Given the description of an element on the screen output the (x, y) to click on. 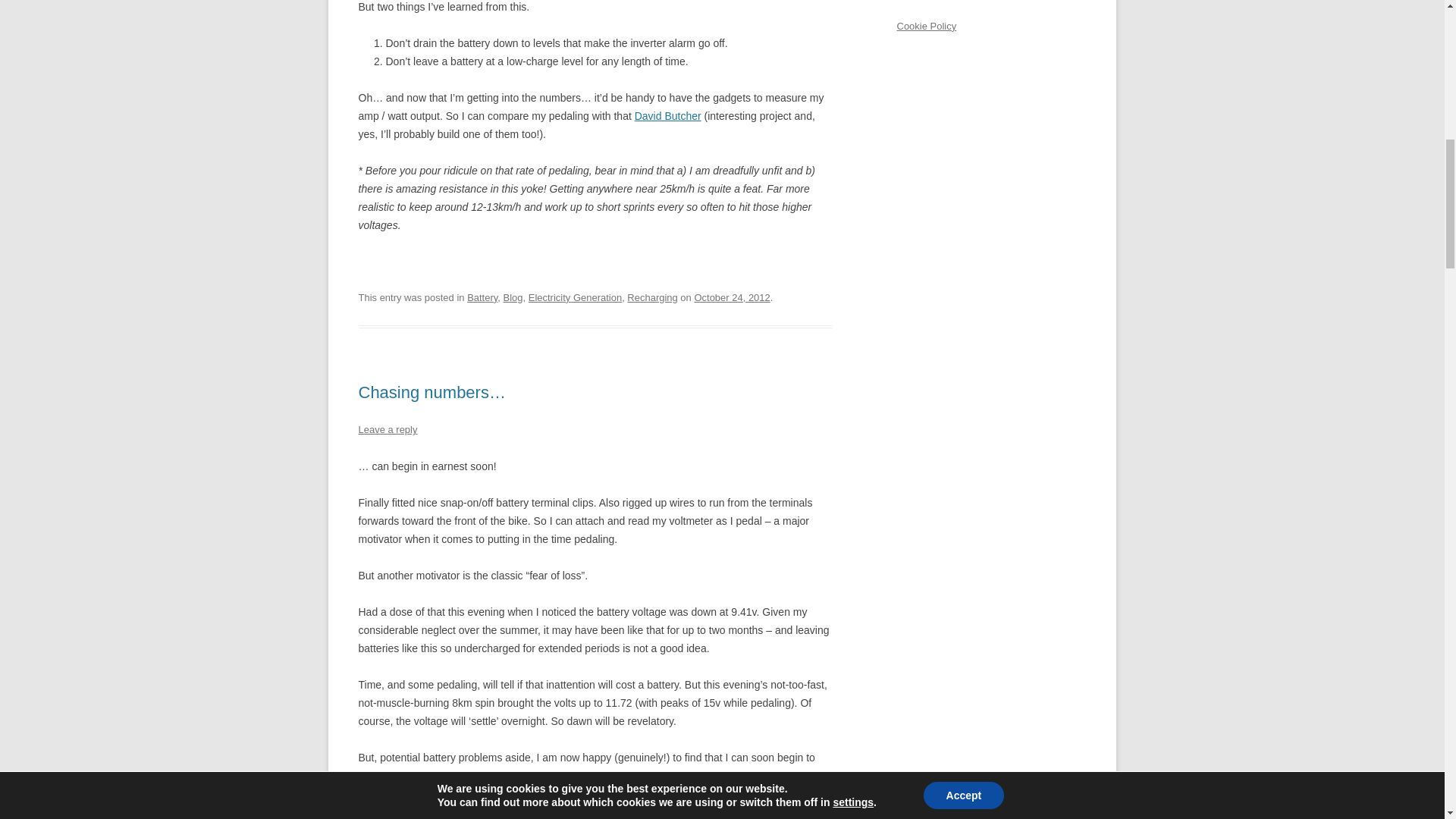
Electricity Generation (574, 297)
Battery (482, 297)
Leave a reply (387, 429)
David Butcher (667, 115)
Recharging (652, 297)
October 24, 2012 (732, 297)
11:25 am (732, 297)
Blog (512, 297)
David Butcher's Pedal Generator Website (667, 115)
